Given the description of an element on the screen output the (x, y) to click on. 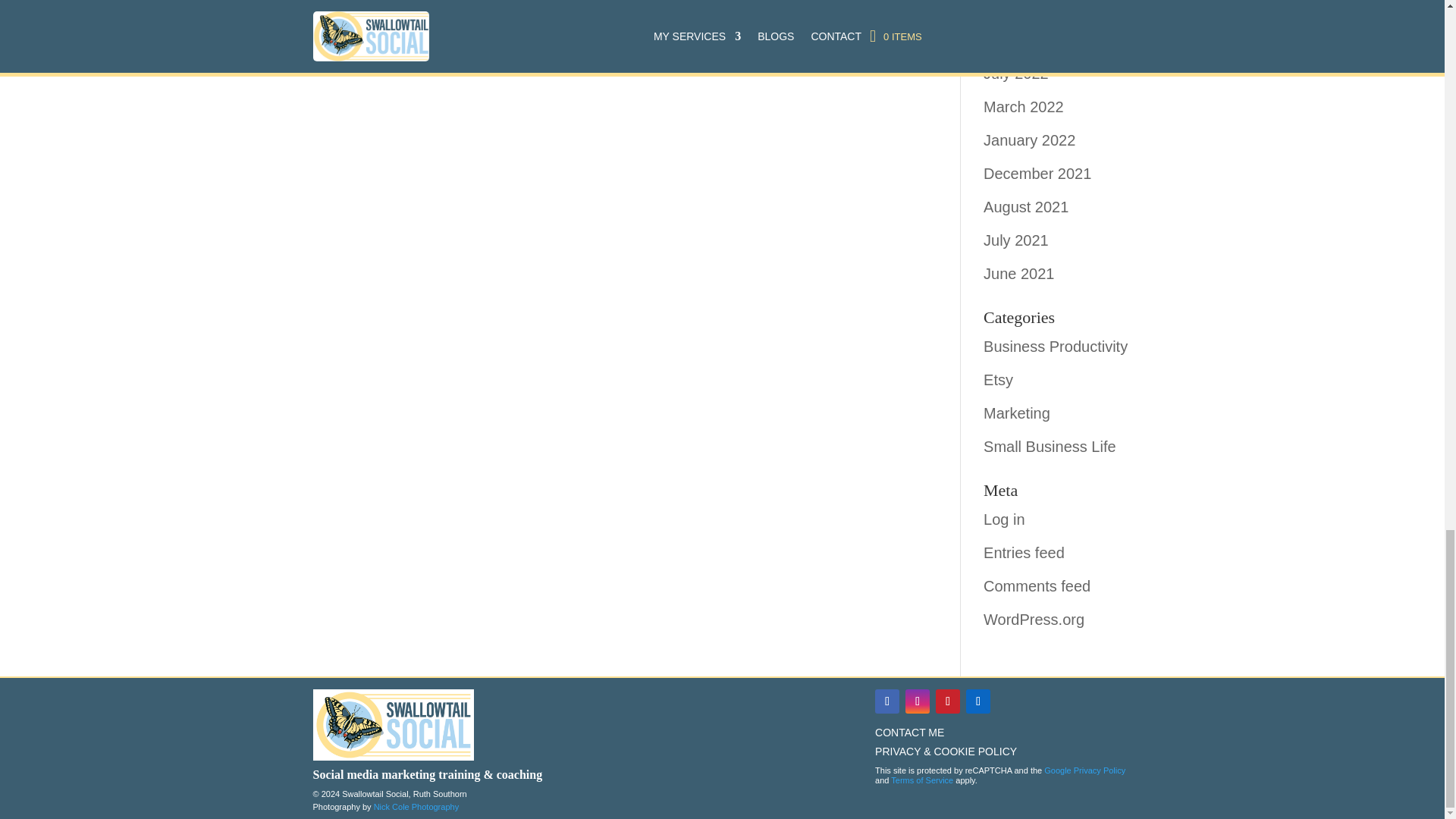
October 2022 (1029, 39)
April 2023 (1017, 7)
Follow on Instagram (917, 701)
Follow on Pinterest (947, 701)
Follow on LinkedIn (978, 701)
Follow on Facebook (887, 701)
